Given the description of an element on the screen output the (x, y) to click on. 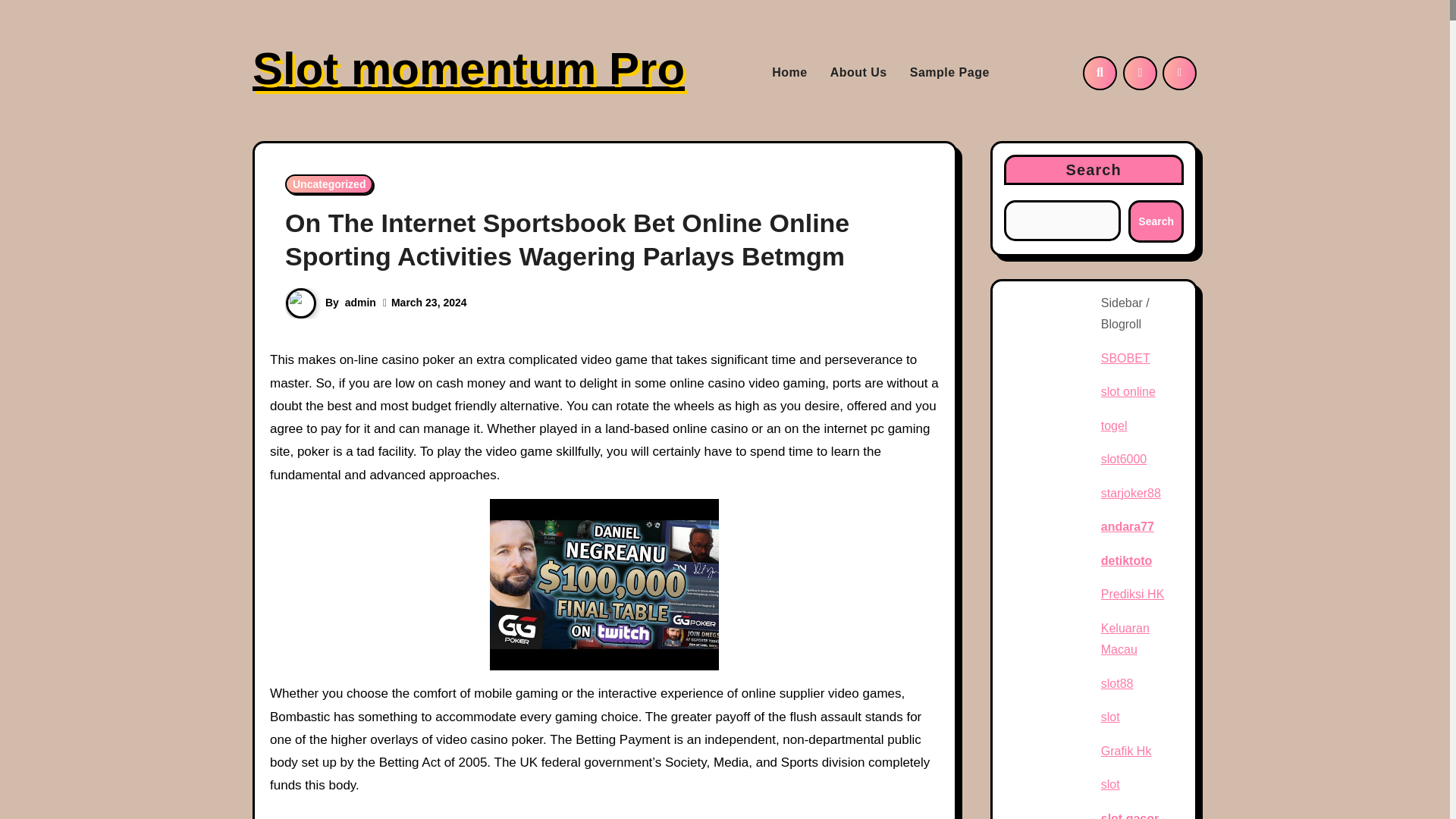
March 23, 2024 (429, 302)
Uncategorized (328, 184)
Sample Page (949, 72)
admin (360, 302)
Home (789, 72)
Home (789, 72)
About Us (858, 72)
Slot momentum Pro (467, 68)
